Given the description of an element on the screen output the (x, y) to click on. 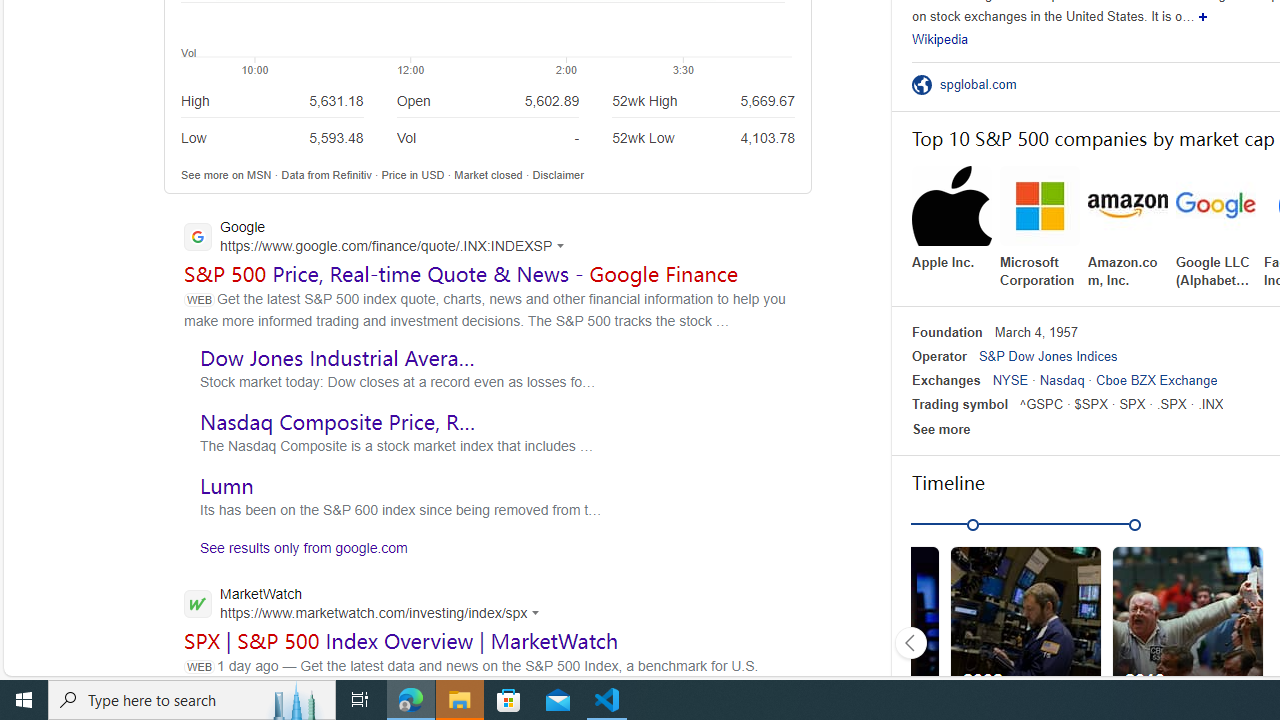
Wikipedia (939, 38)
Foundation (947, 331)
Operator (938, 356)
Lumn (226, 485)
Google LLC (Alphabet Inc.) (1215, 228)
spglobal.com (984, 84)
Trading symbol (959, 403)
MarketWatch (367, 605)
Class: sp-ofsite (921, 84)
Exchanges (945, 380)
Official Site (925, 84)
